Given the description of an element on the screen output the (x, y) to click on. 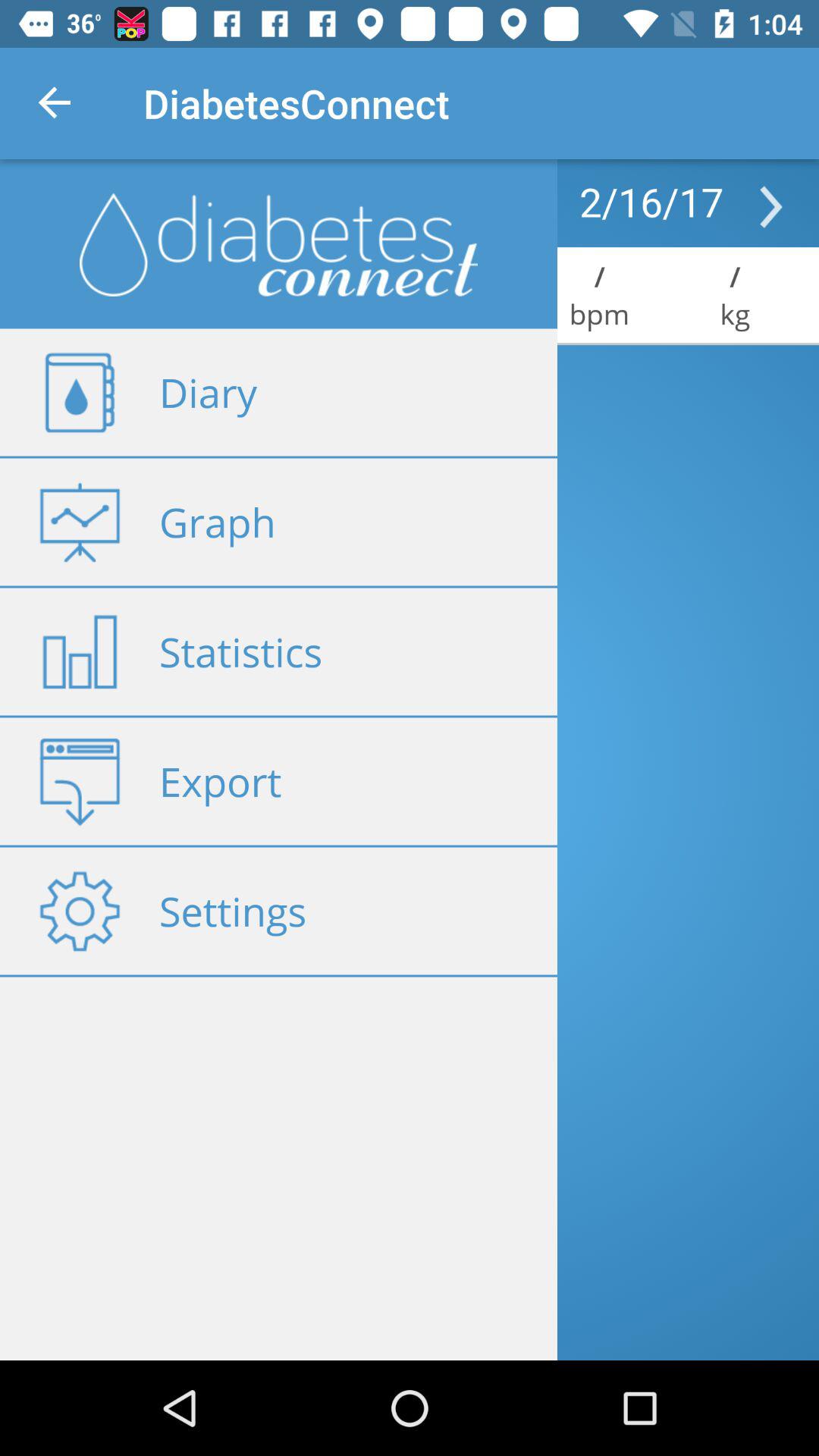
click on icon on the right side of statistics (79, 652)
